Given the description of an element on the screen output the (x, y) to click on. 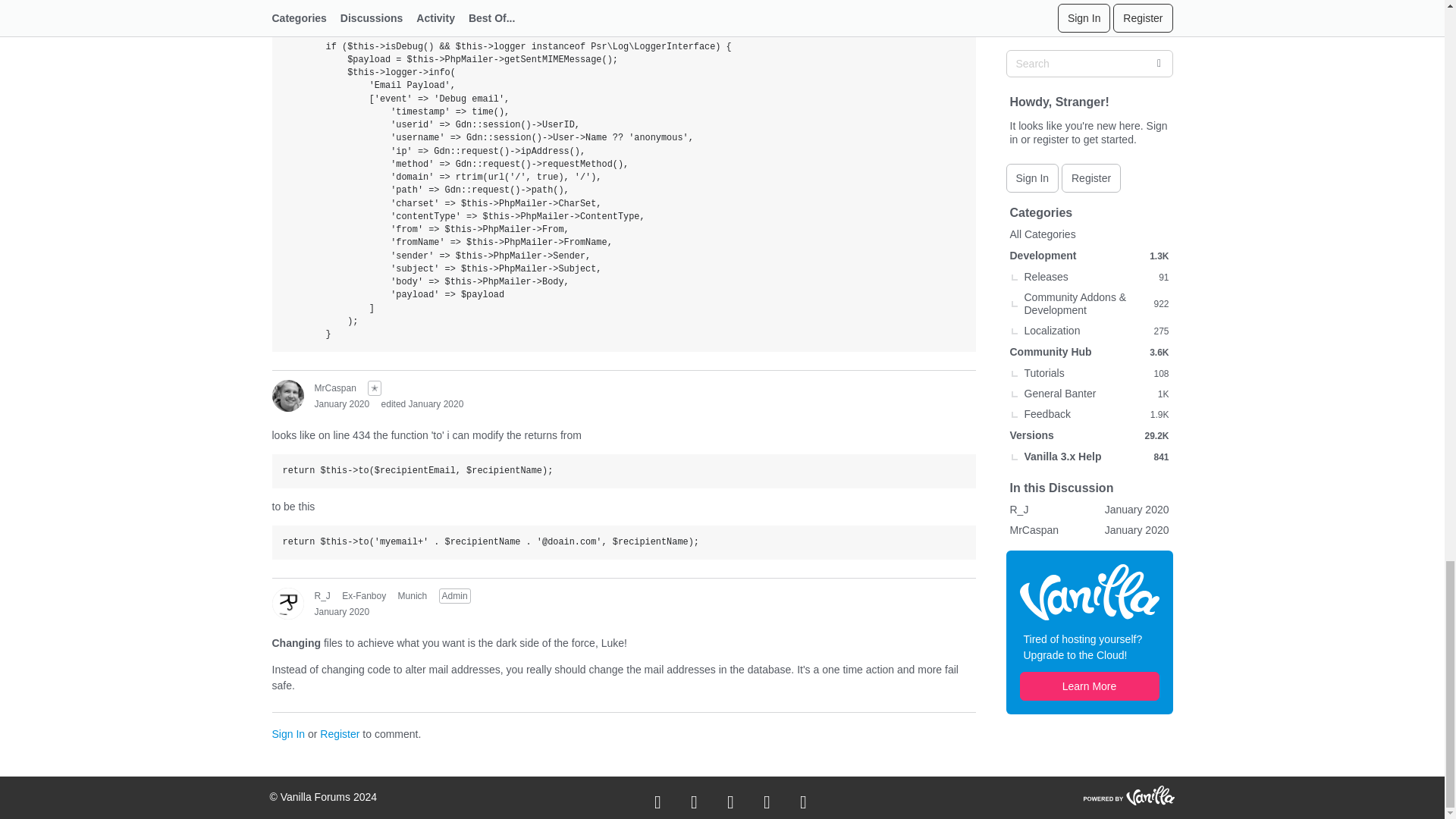
Powered By Vanilla (1128, 795)
